Given the description of an element on the screen output the (x, y) to click on. 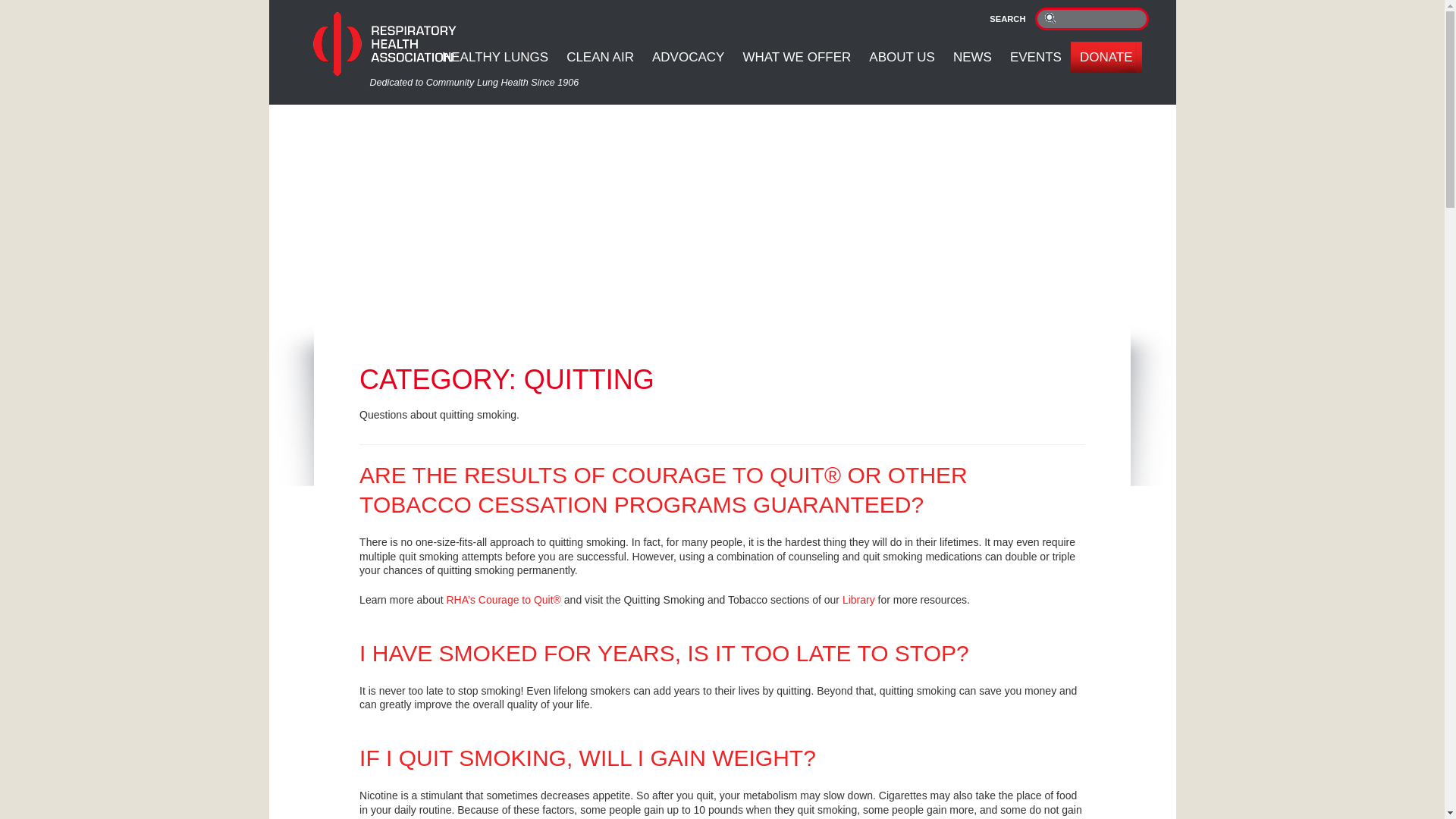
HEALTHY LUNGS (494, 56)
Search (1049, 17)
Search (1049, 17)
Search for: (1090, 18)
Search (1049, 17)
